Given the description of an element on the screen output the (x, y) to click on. 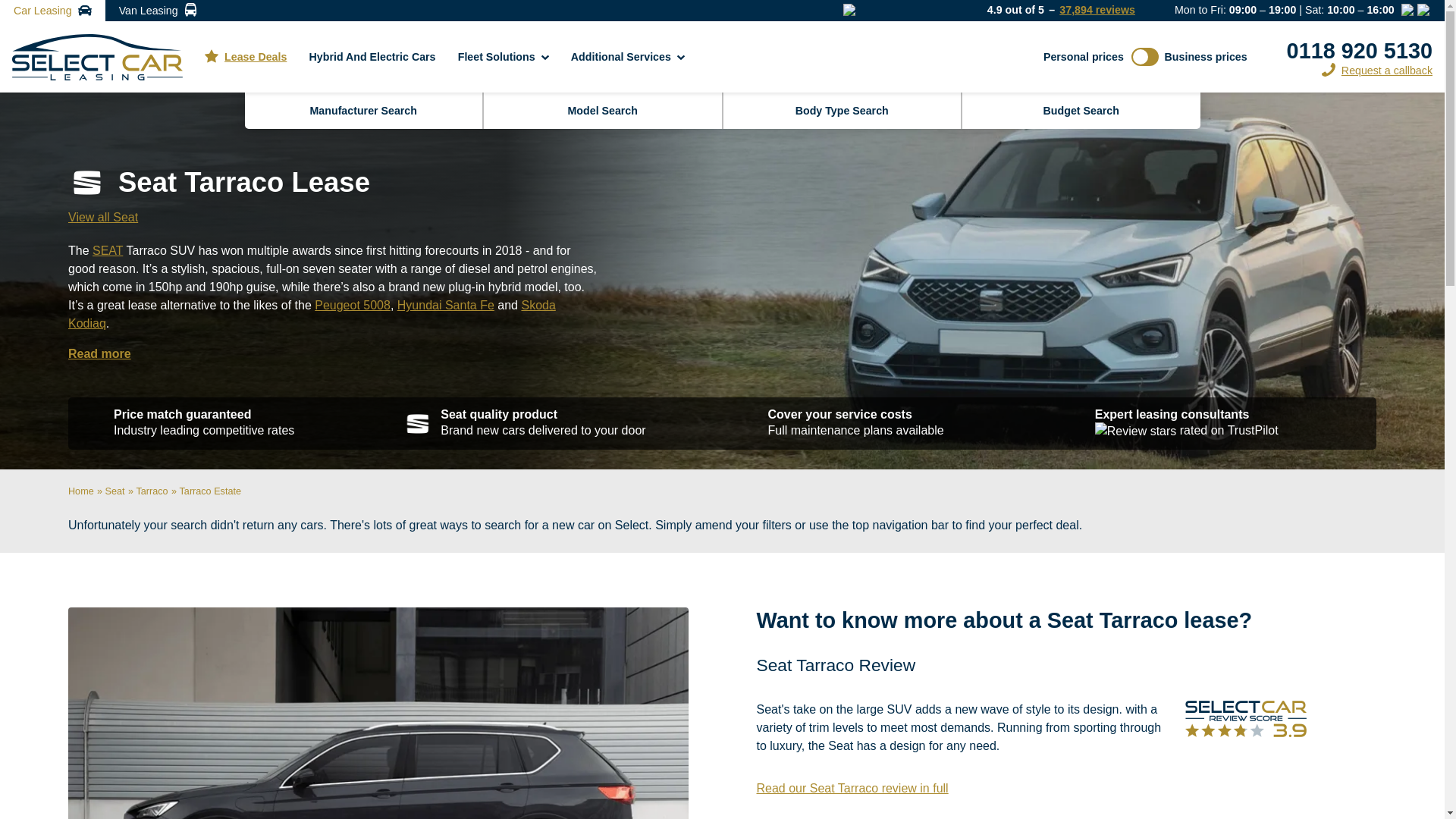
Hybrid And Electric Cars (372, 56)
Lease Deals (246, 56)
37,894 reviews (1097, 10)
Additional Services (627, 56)
Fleet Solutions (503, 56)
Van Leasing (158, 10)
Car Leasing (52, 10)
